Given the description of an element on the screen output the (x, y) to click on. 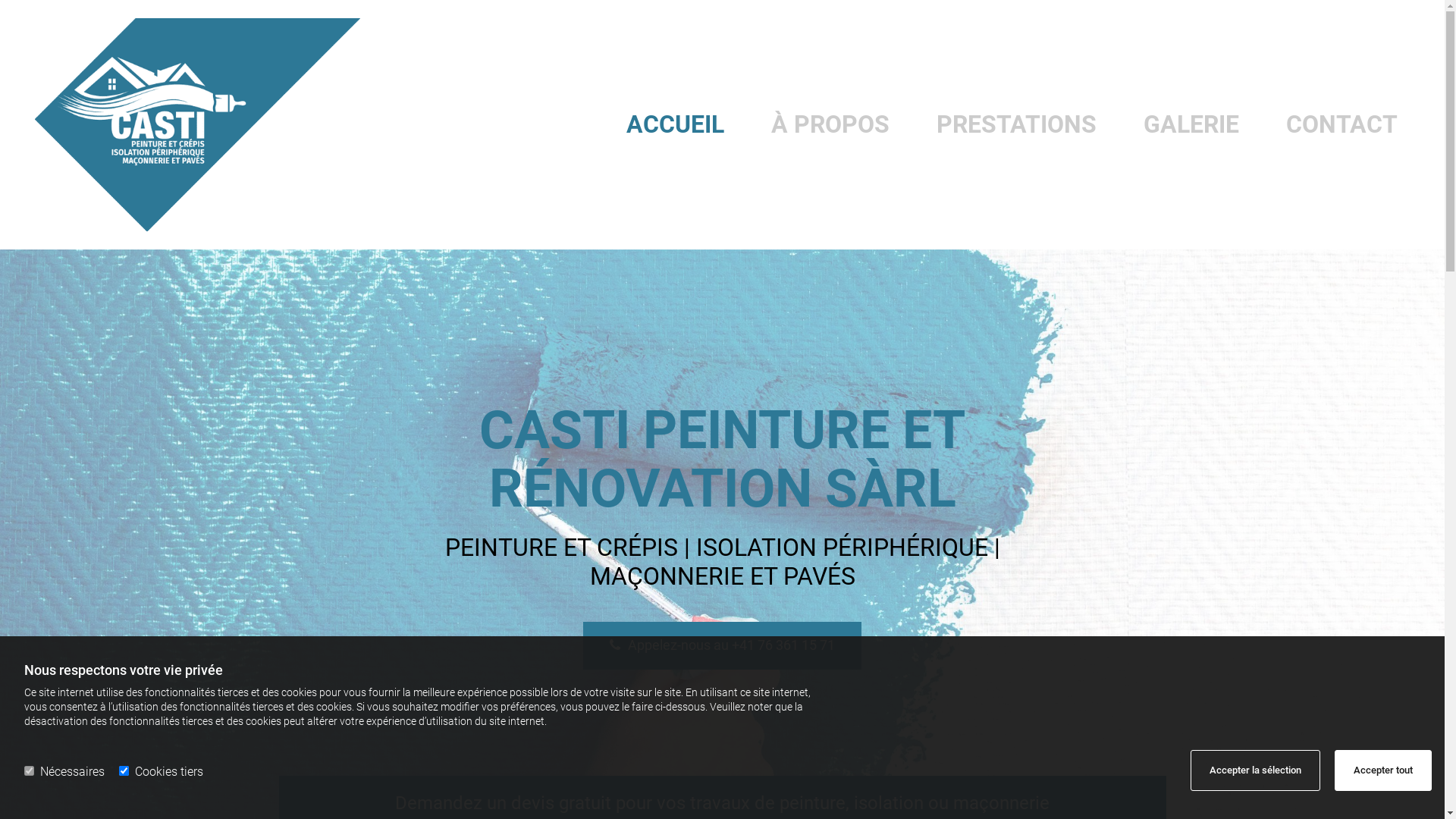
Appelez-nous au +41 76 361 15 71 Element type: text (722, 645)
Accepter tout Element type: text (1382, 769)
PRESTATIONS Element type: text (1016, 125)
GALERIE Element type: text (1191, 125)
ACCUEIL Element type: text (675, 125)
CONTACT Element type: text (1341, 125)
